Given the description of an element on the screen output the (x, y) to click on. 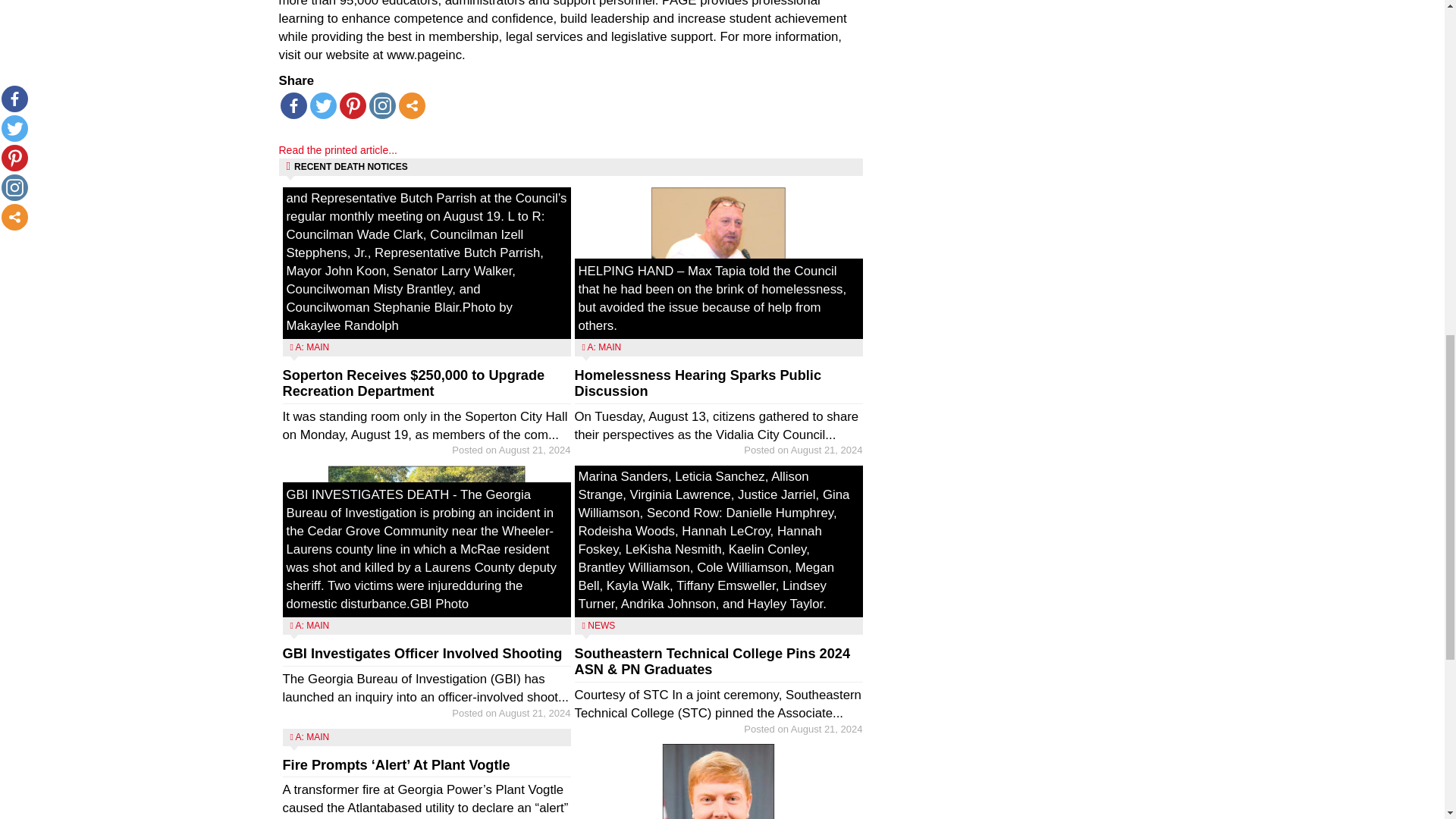
GBI Investigates Officer Involved Shooting (422, 653)
A: MAIN (312, 737)
Instagram (381, 105)
Twitter (322, 105)
Read the printed article... (338, 150)
Facebook (294, 105)
A: MAIN (312, 624)
A: MAIN (312, 347)
Pinterest (352, 105)
